Given the description of an element on the screen output the (x, y) to click on. 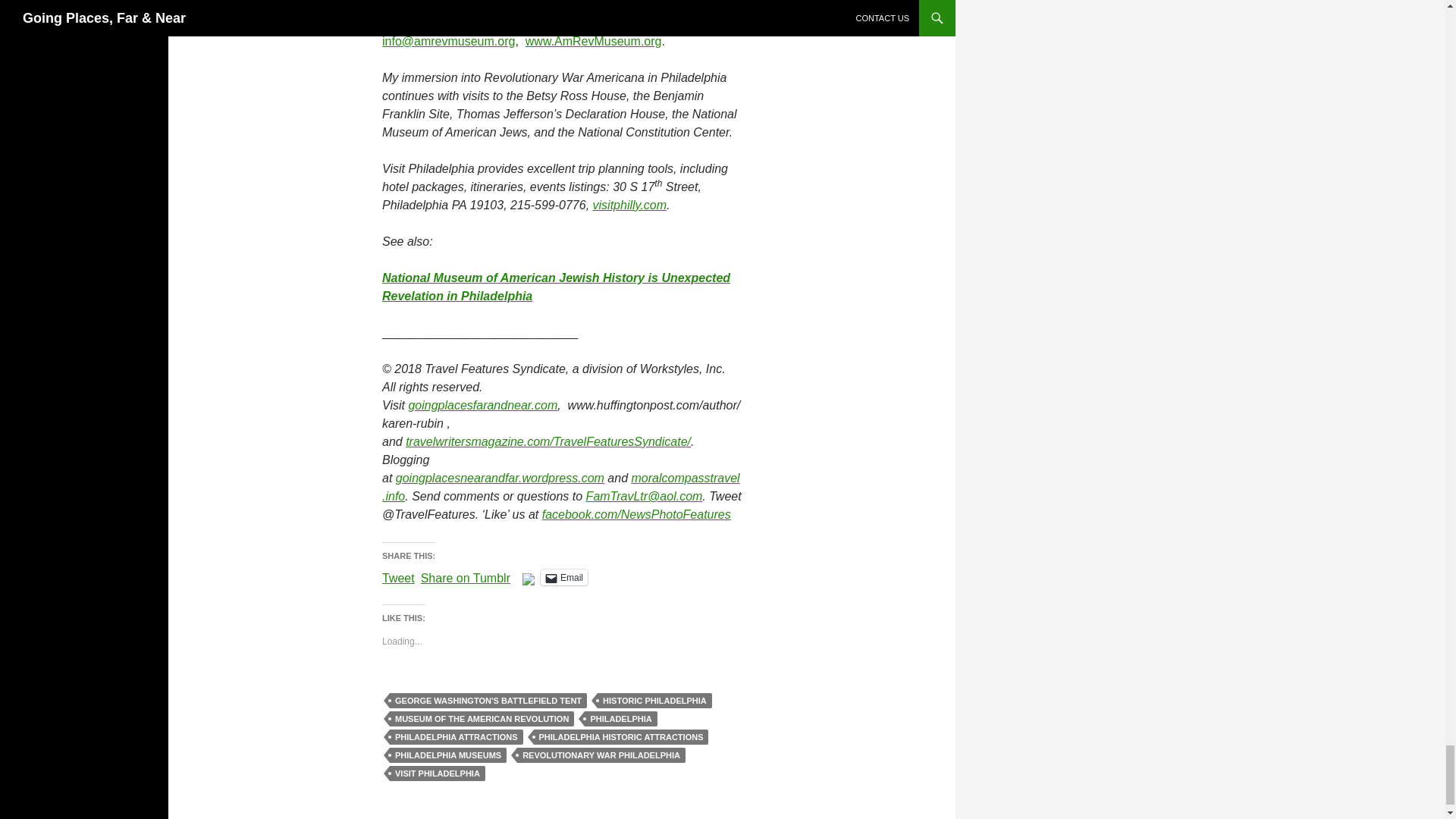
goingplacesnearandfar.wordpress.com (500, 477)
goingplacesfarandnear.com (482, 404)
www.AmRevMuseum.org (593, 41)
Click to email a link to a friend (564, 577)
visitphilly.com (629, 205)
Share on Tumblr (465, 576)
moralcompasstravel.info (560, 486)
